Given the description of an element on the screen output the (x, y) to click on. 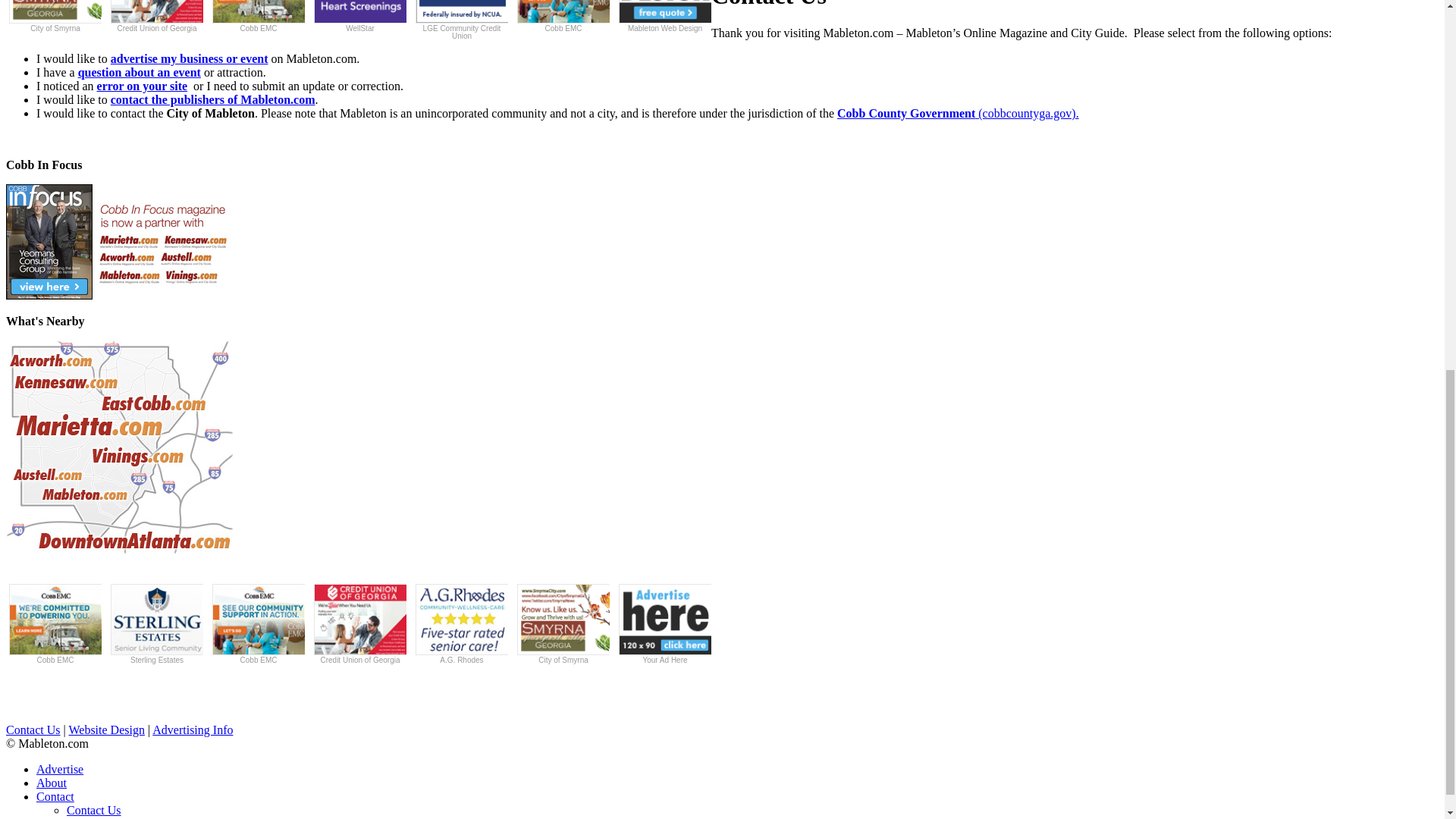
I have a question (142, 85)
Cobb EMC (258, 16)
Credit Union of Georgia (156, 16)
Contact Form (212, 99)
Advertise (188, 58)
City of Smyrna (54, 16)
I have a question (139, 72)
